Given the description of an element on the screen output the (x, y) to click on. 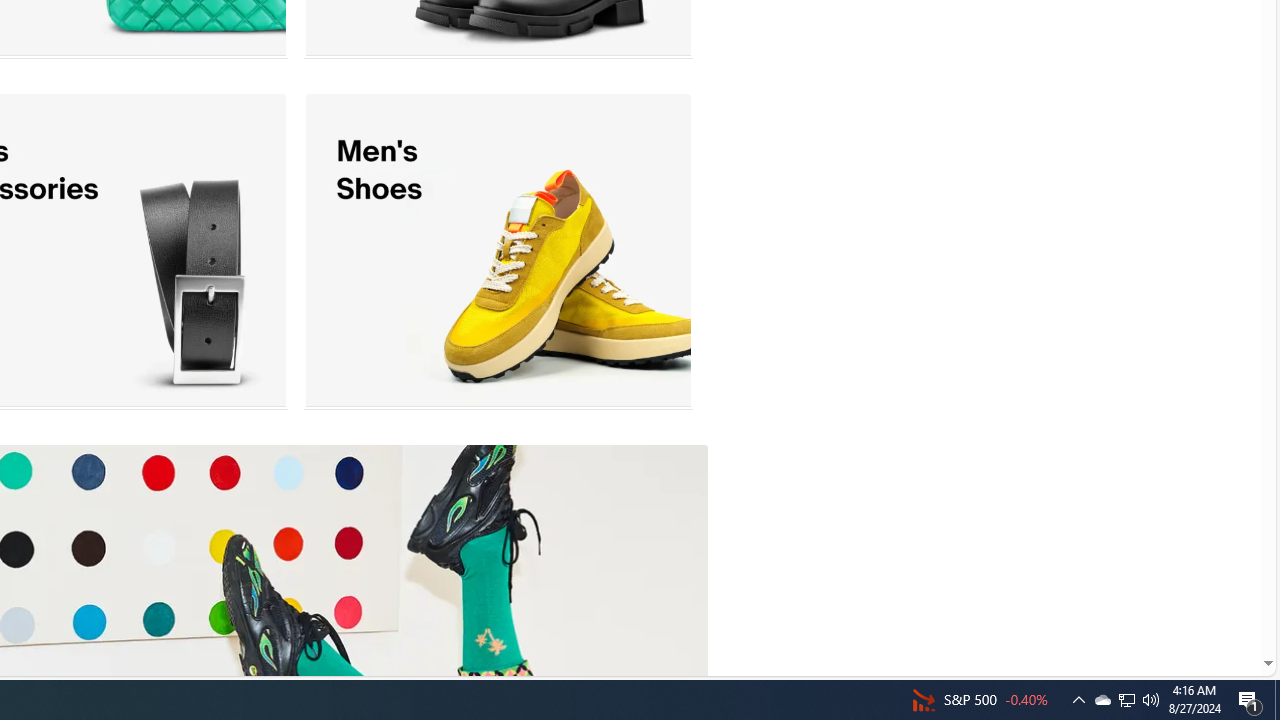
Class: carousel__snap-point (498, 250)
1 (498, 250)
1 (498, 250)
